Given the description of an element on the screen output the (x, y) to click on. 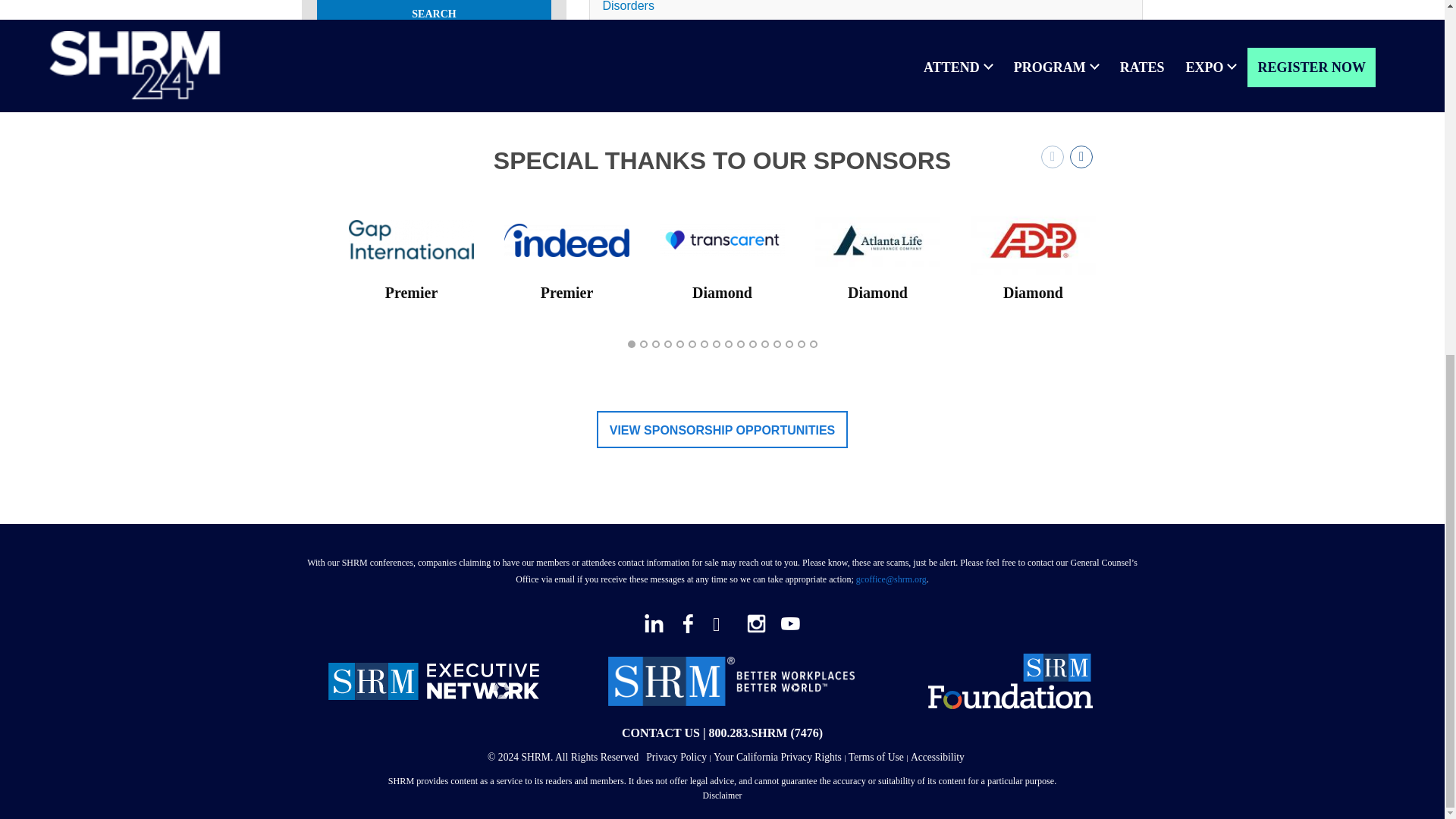
SEARCH (434, 15)
Indeed (565, 240)
Indeed (565, 238)
